Given the description of an element on the screen output the (x, y) to click on. 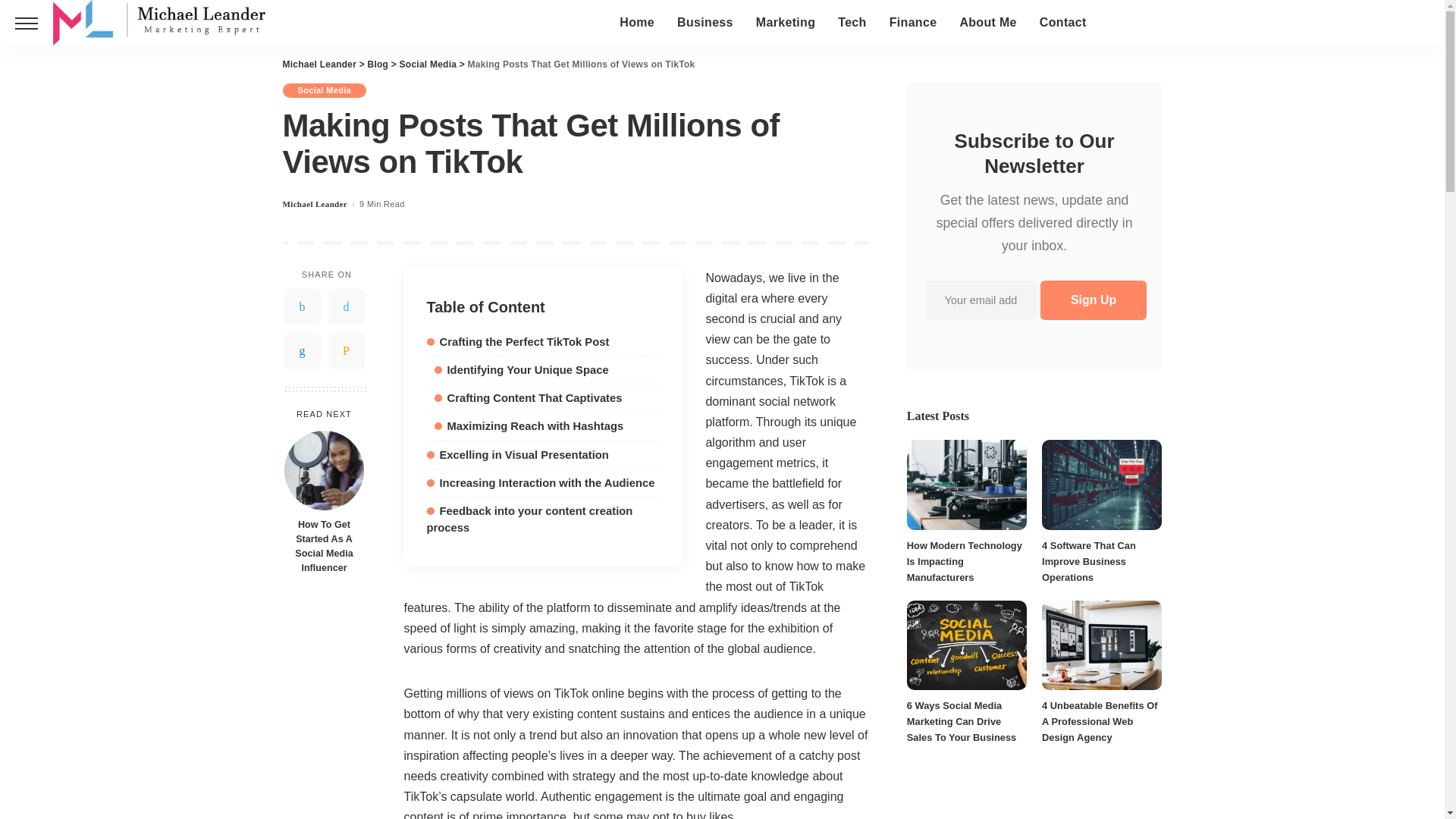
Michael Leander (158, 22)
Go to the Social Media Category archives. (427, 63)
Go to Blog. (378, 63)
Twitter (345, 307)
Sign Up (1094, 300)
linkedIn (301, 350)
Facebook (301, 307)
Go to Michael Leander. (319, 63)
